Given the description of an element on the screen output the (x, y) to click on. 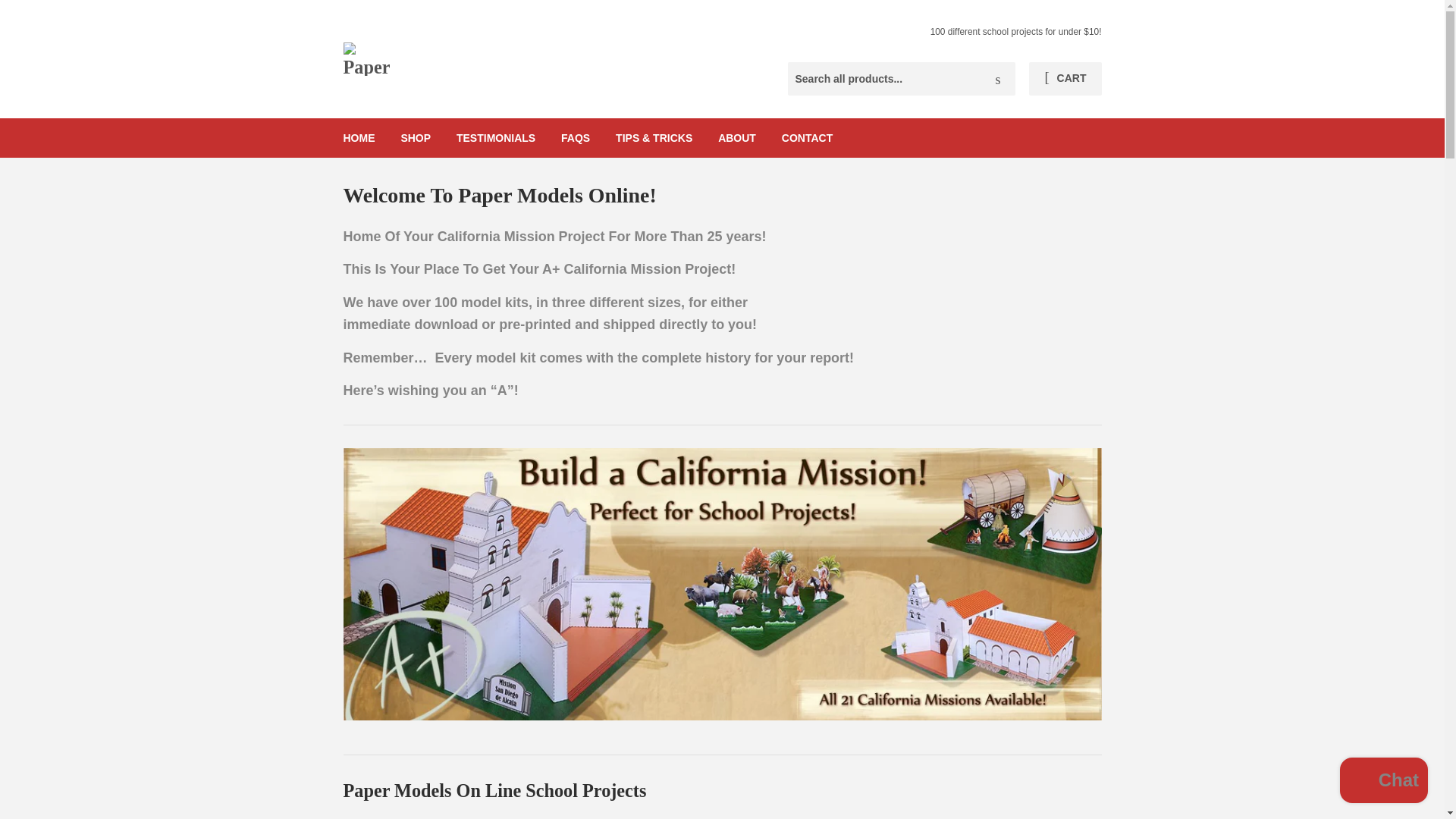
CONTACT (807, 137)
FAQS (575, 137)
TESTIMONIALS (496, 137)
Shopify online store chat (1383, 781)
ABOUT (736, 137)
HOME (359, 137)
Search (997, 79)
SHOP (415, 137)
CART (1064, 78)
